Given the description of an element on the screen output the (x, y) to click on. 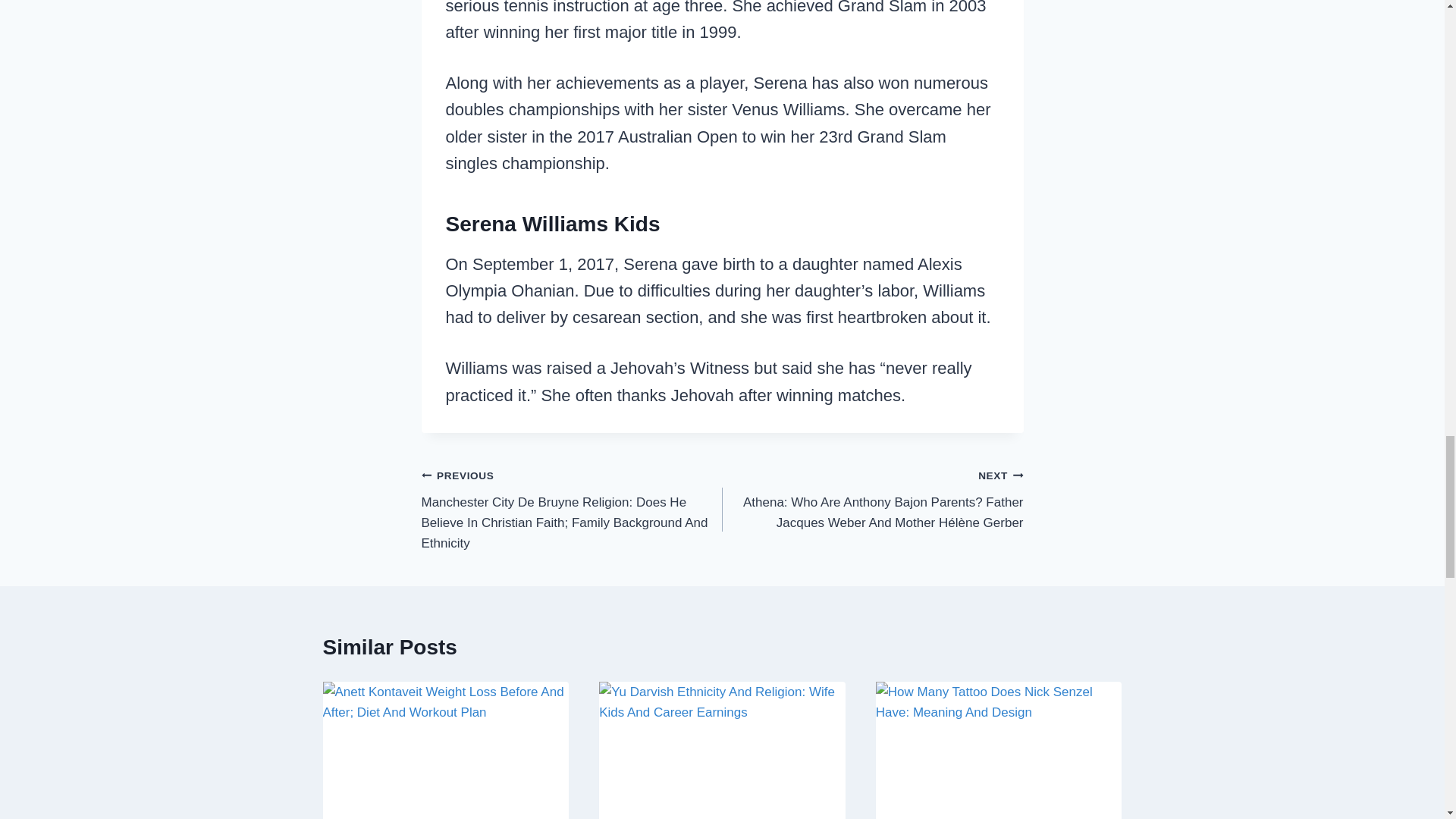
How Many Tattoo Does Nick Senzel Have: Meaning And Design (999, 750)
